Given the description of an element on the screen output the (x, y) to click on. 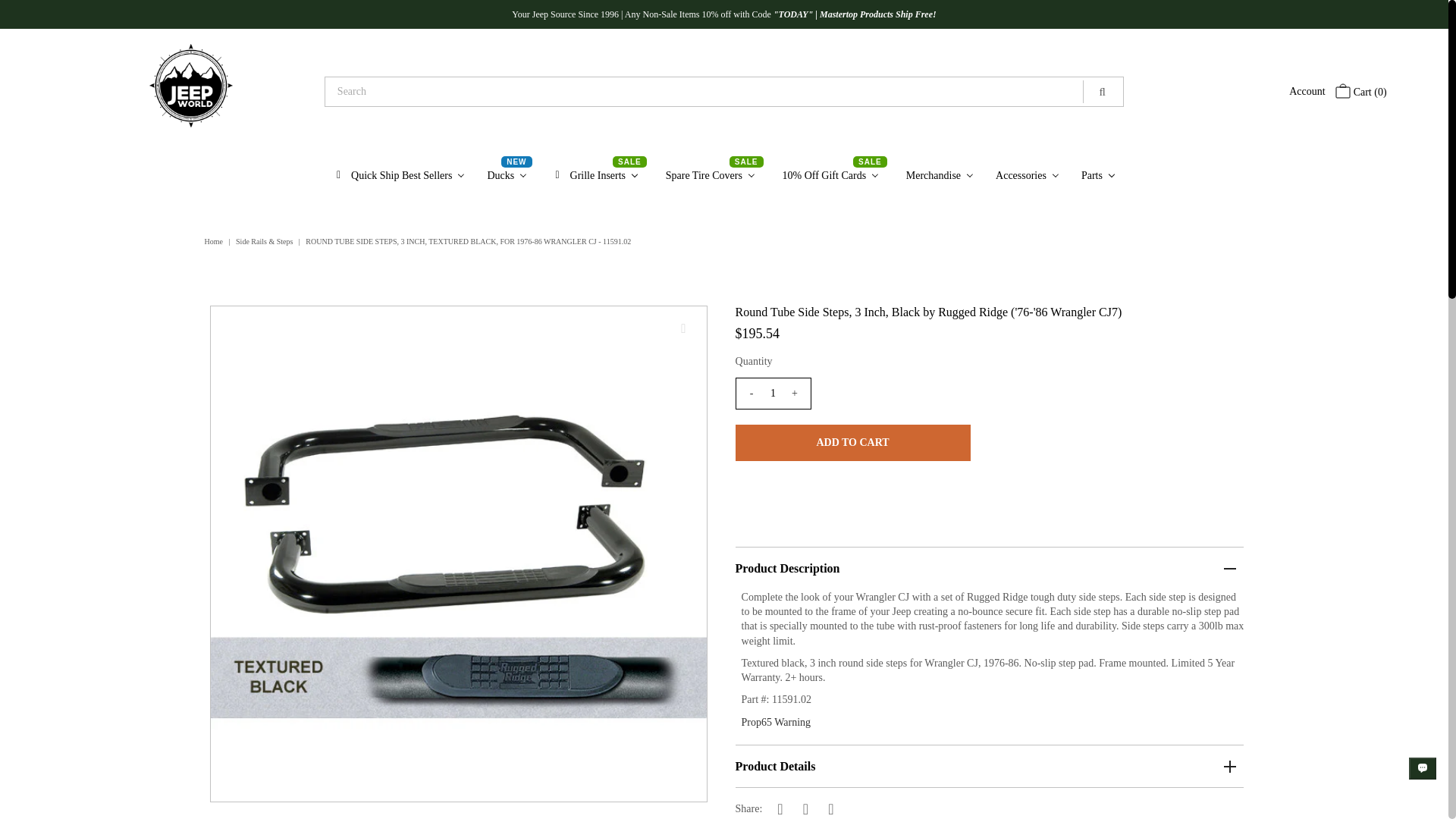
Add to Cart (853, 443)
